Given the description of an element on the screen output the (x, y) to click on. 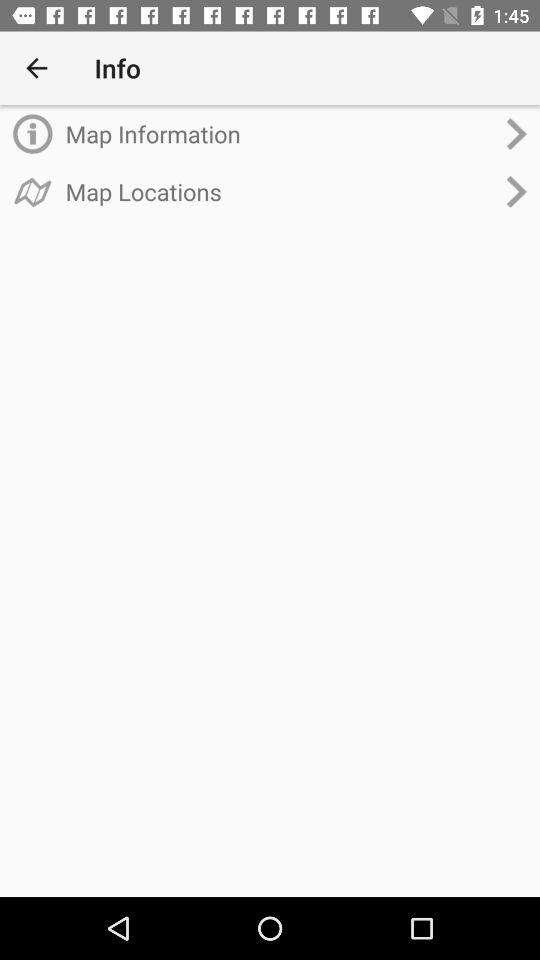
jump to map locations item (279, 191)
